Given the description of an element on the screen output the (x, y) to click on. 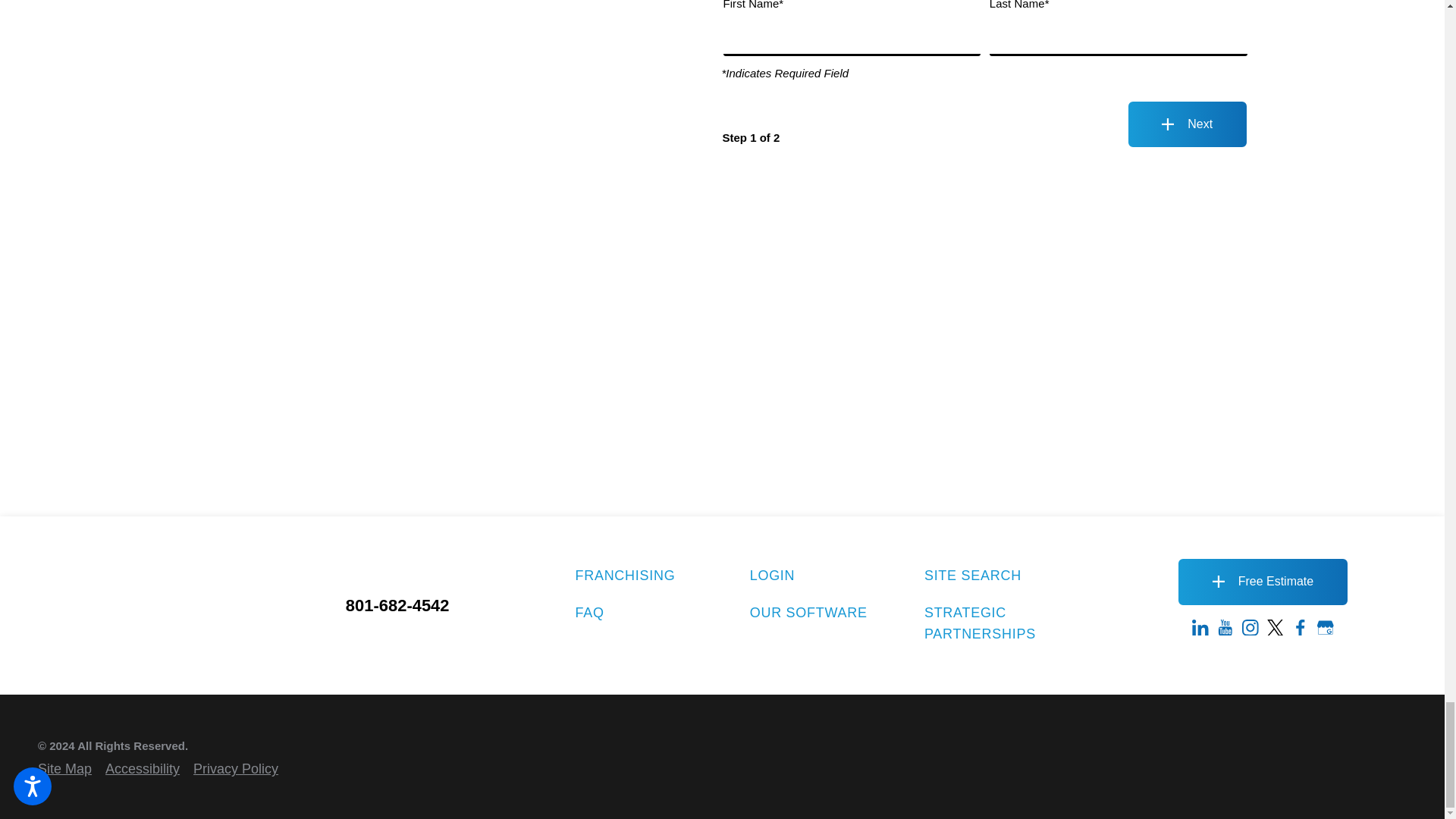
Instagram (1250, 627)
LinkedIn (1200, 627)
YouTube (1225, 627)
Twitter (1275, 627)
View the Next Panel (1186, 124)
